Given the description of an element on the screen output the (x, y) to click on. 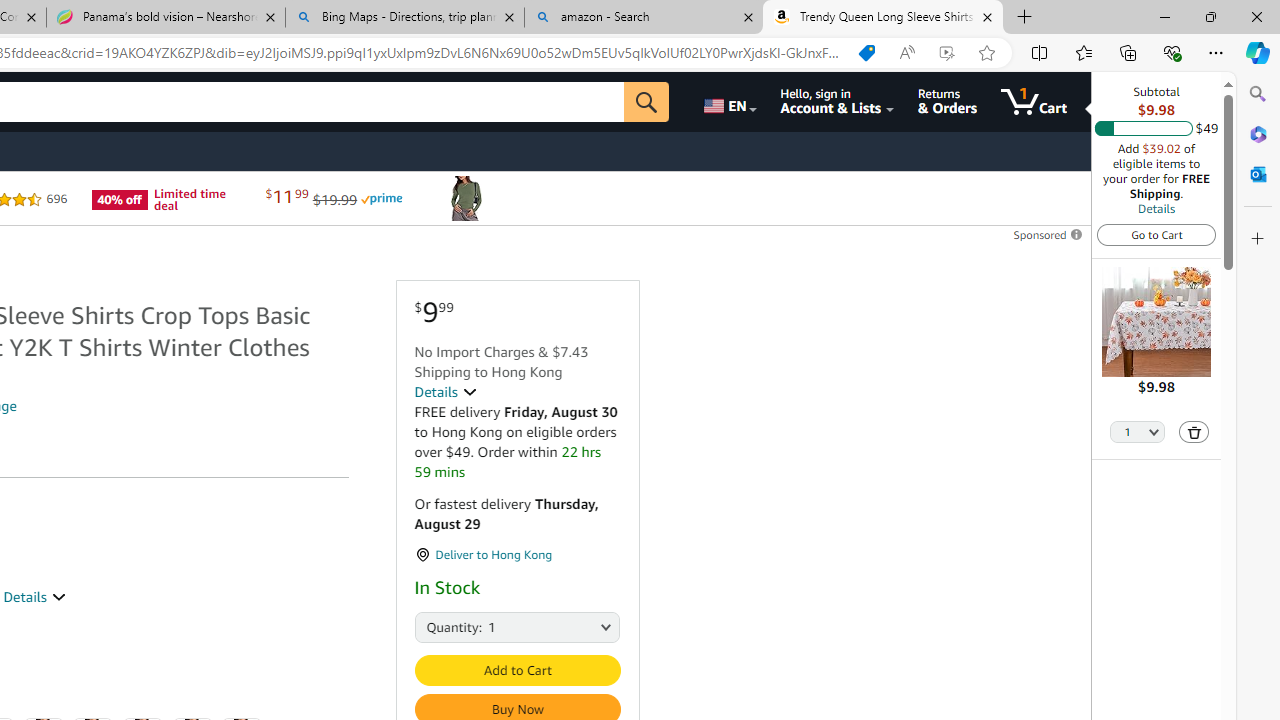
Quantity: (436, 626)
Enhance video (946, 53)
Quantity Selector (1137, 433)
Delete (1193, 431)
Add to Cart (516, 669)
